Given the description of an element on the screen output the (x, y) to click on. 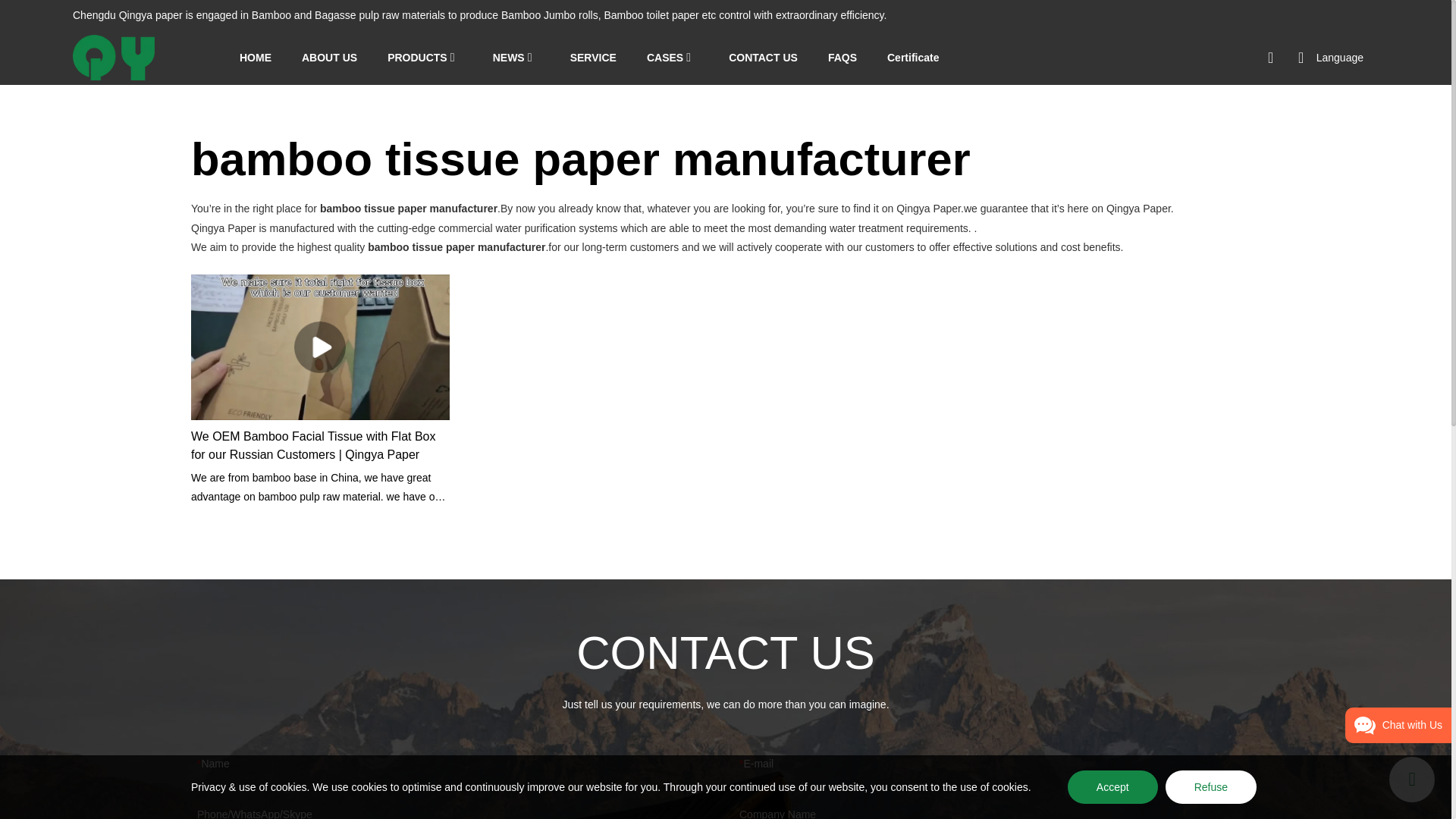
facebook (1232, 57)
PRODUCTS (416, 57)
ABOUT US (328, 57)
youtube (1202, 57)
SERVICE (592, 57)
